Given the description of an element on the screen output the (x, y) to click on. 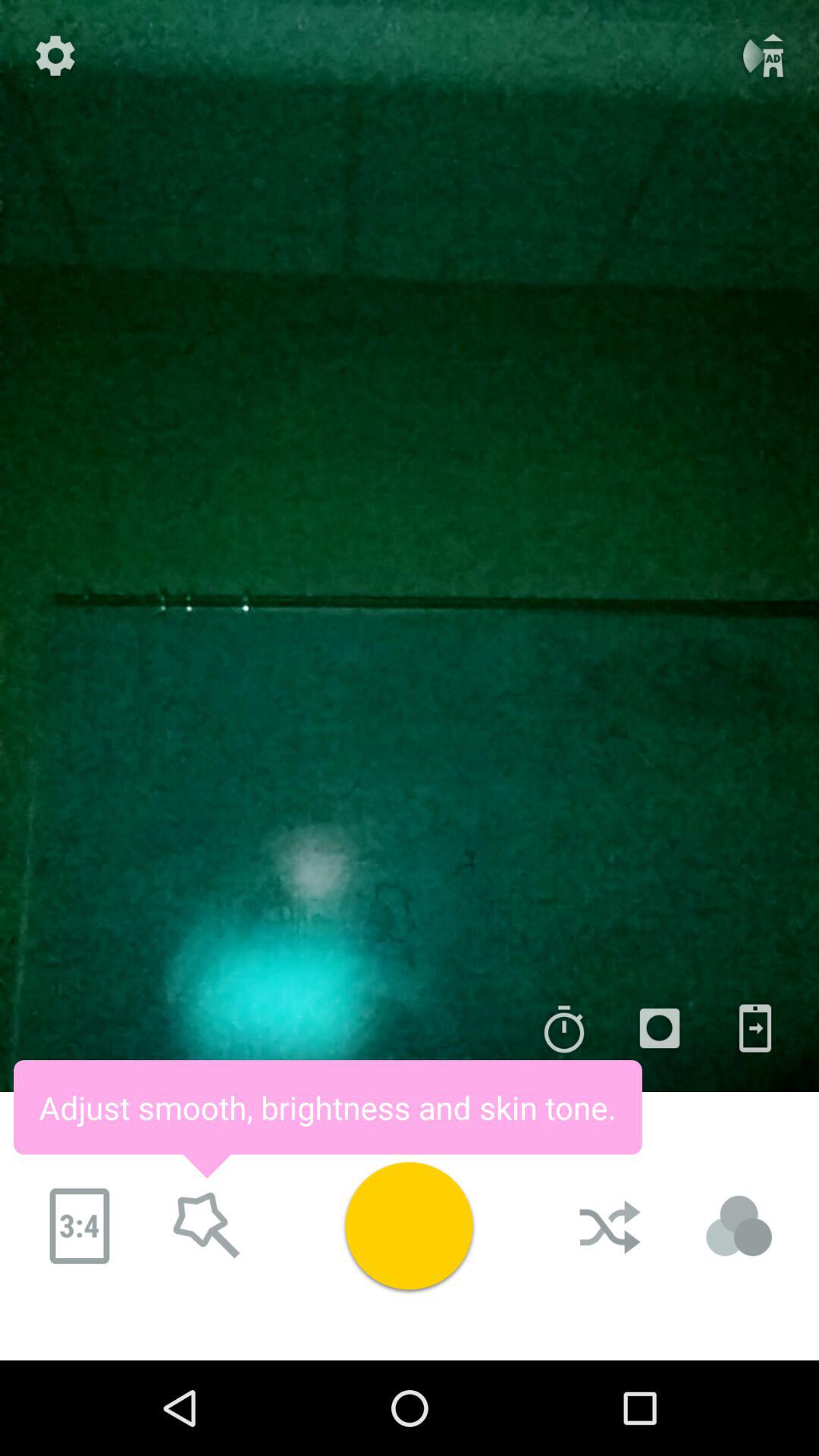
go to search (206, 1226)
